Given the description of an element on the screen output the (x, y) to click on. 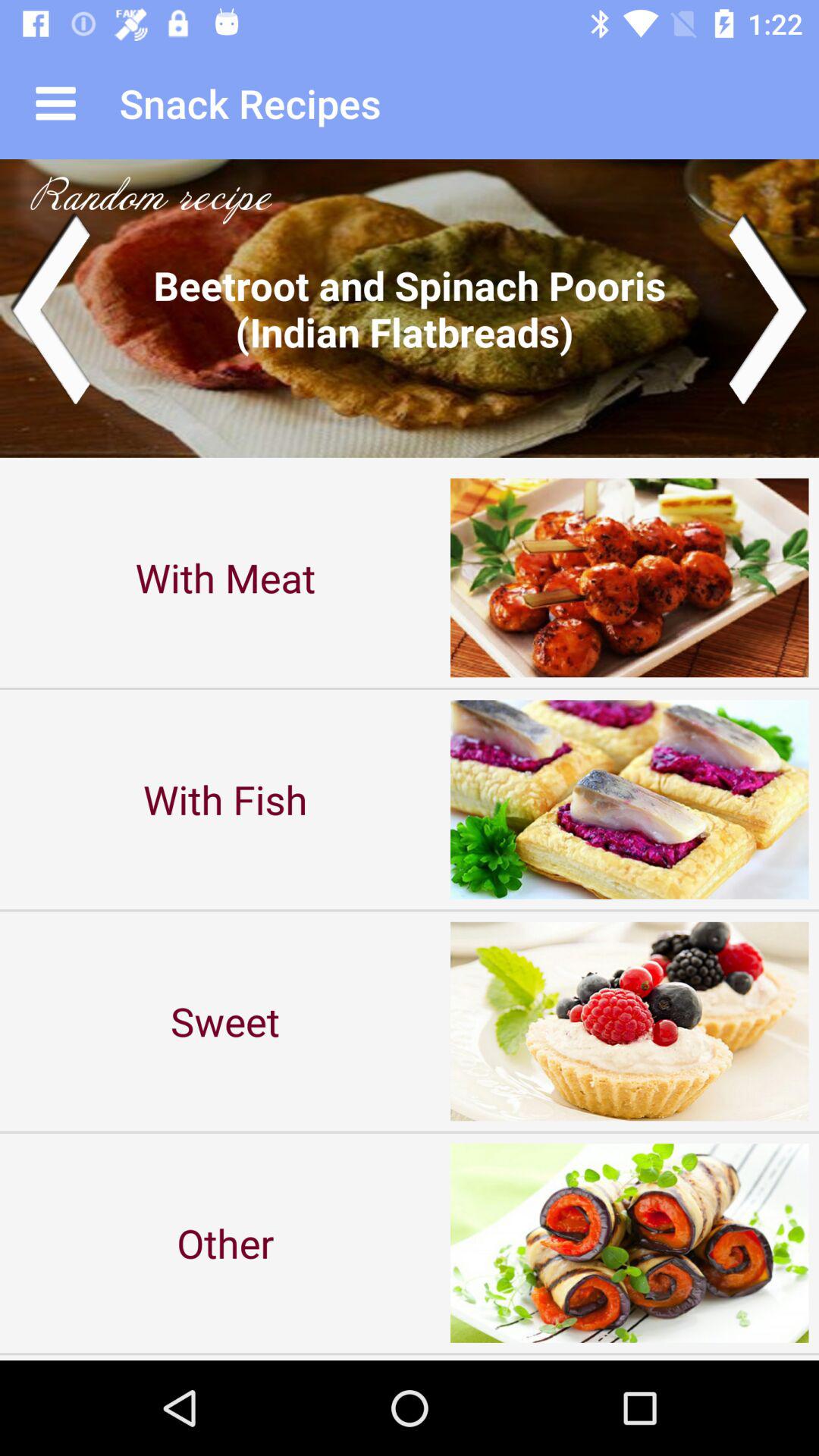
jump until sweet (225, 1020)
